Given the description of an element on the screen output the (x, y) to click on. 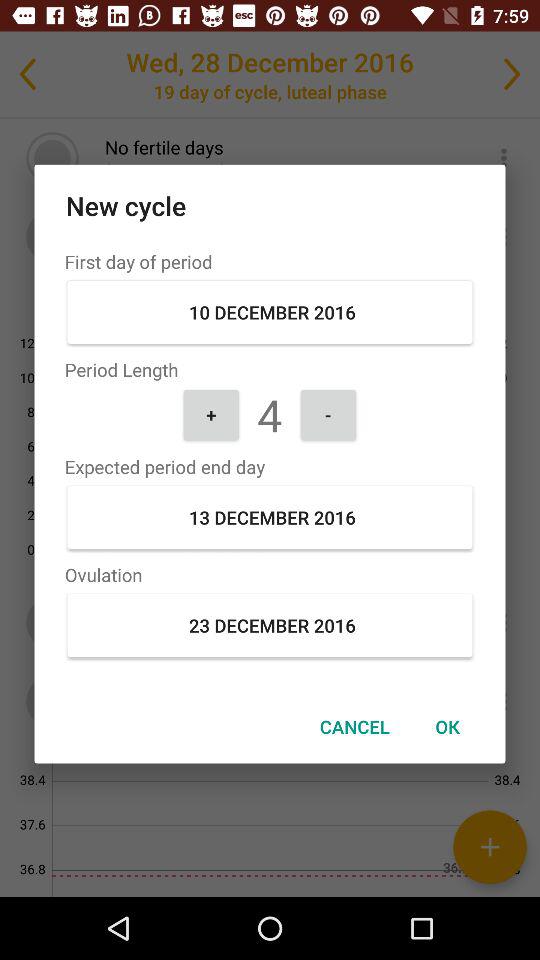
jump until the - item (328, 414)
